Given the description of an element on the screen output the (x, y) to click on. 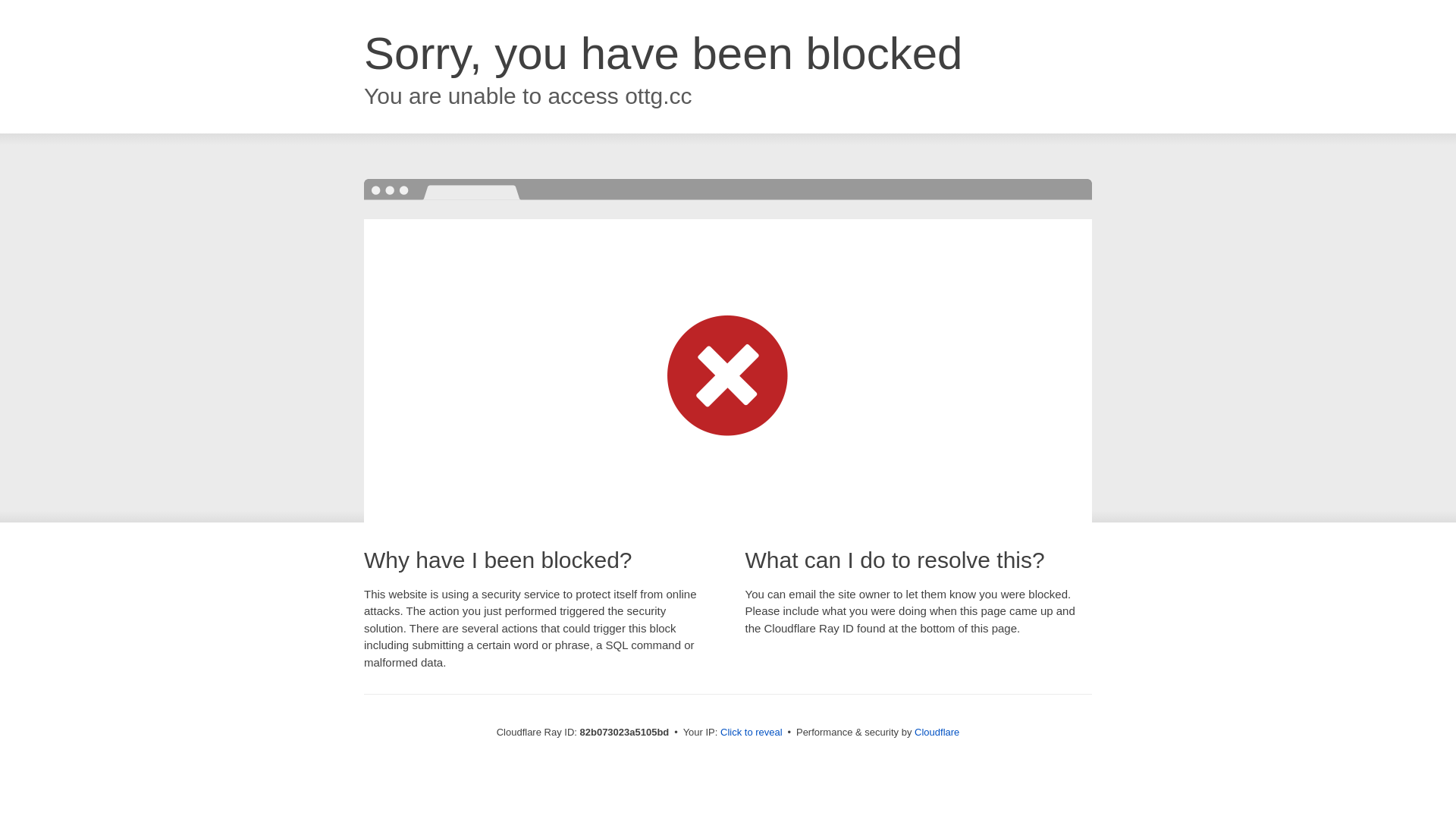
Click to reveal Element type: text (751, 732)
Cloudflare Element type: text (936, 731)
